Given the description of an element on the screen output the (x, y) to click on. 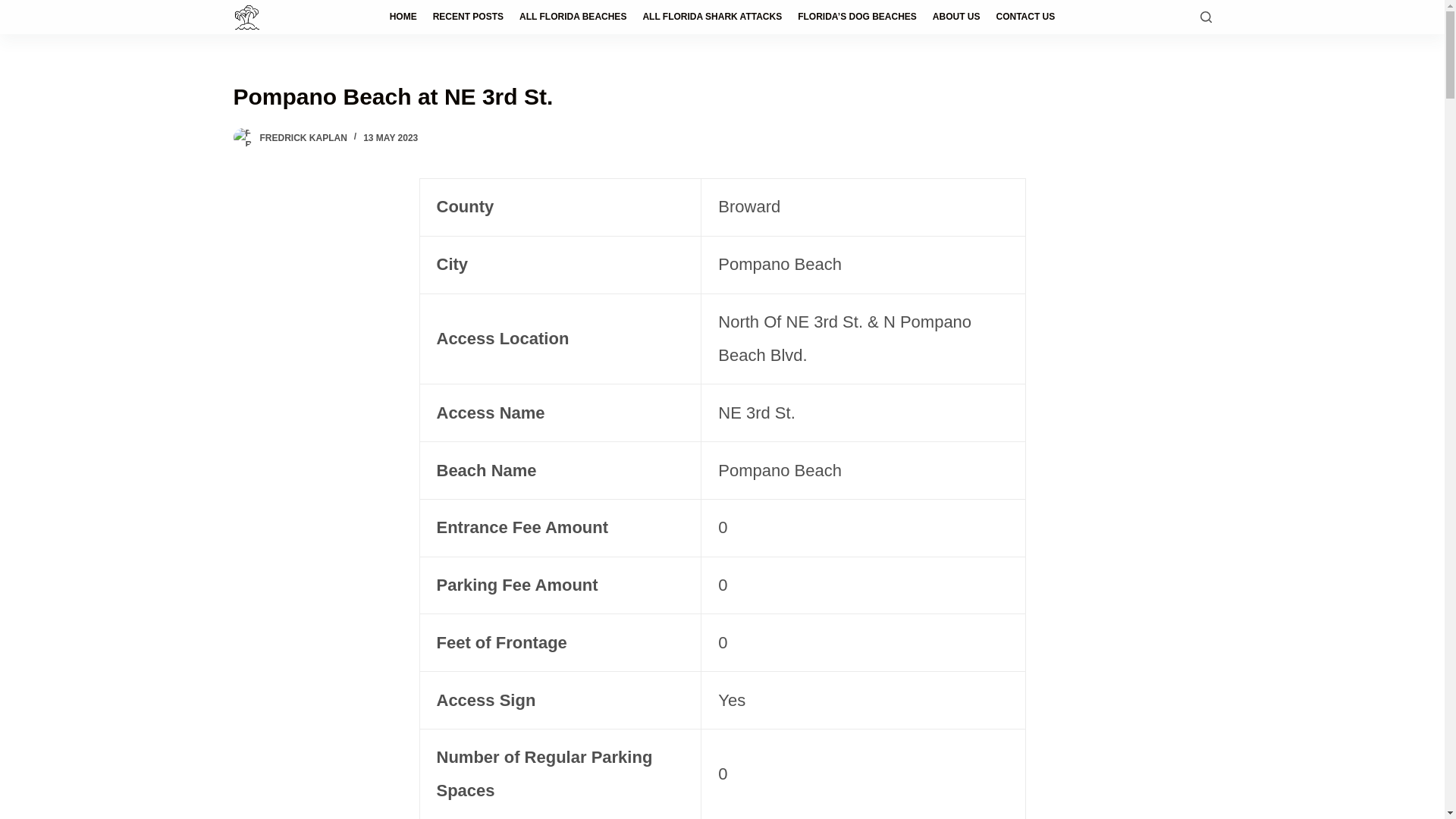
CONTACT US (1025, 16)
ALL FLORIDA SHARK ATTACKS (712, 16)
RECENT POSTS (468, 16)
FREDRICK KAPLAN (302, 137)
HOME (403, 16)
Skip to content (15, 7)
Posts by Fredrick Kaplan (302, 137)
ABOUT US (956, 16)
ALL FLORIDA BEACHES (573, 16)
Pompano Beach at NE 3rd St. (721, 96)
